Given the description of an element on the screen output the (x, y) to click on. 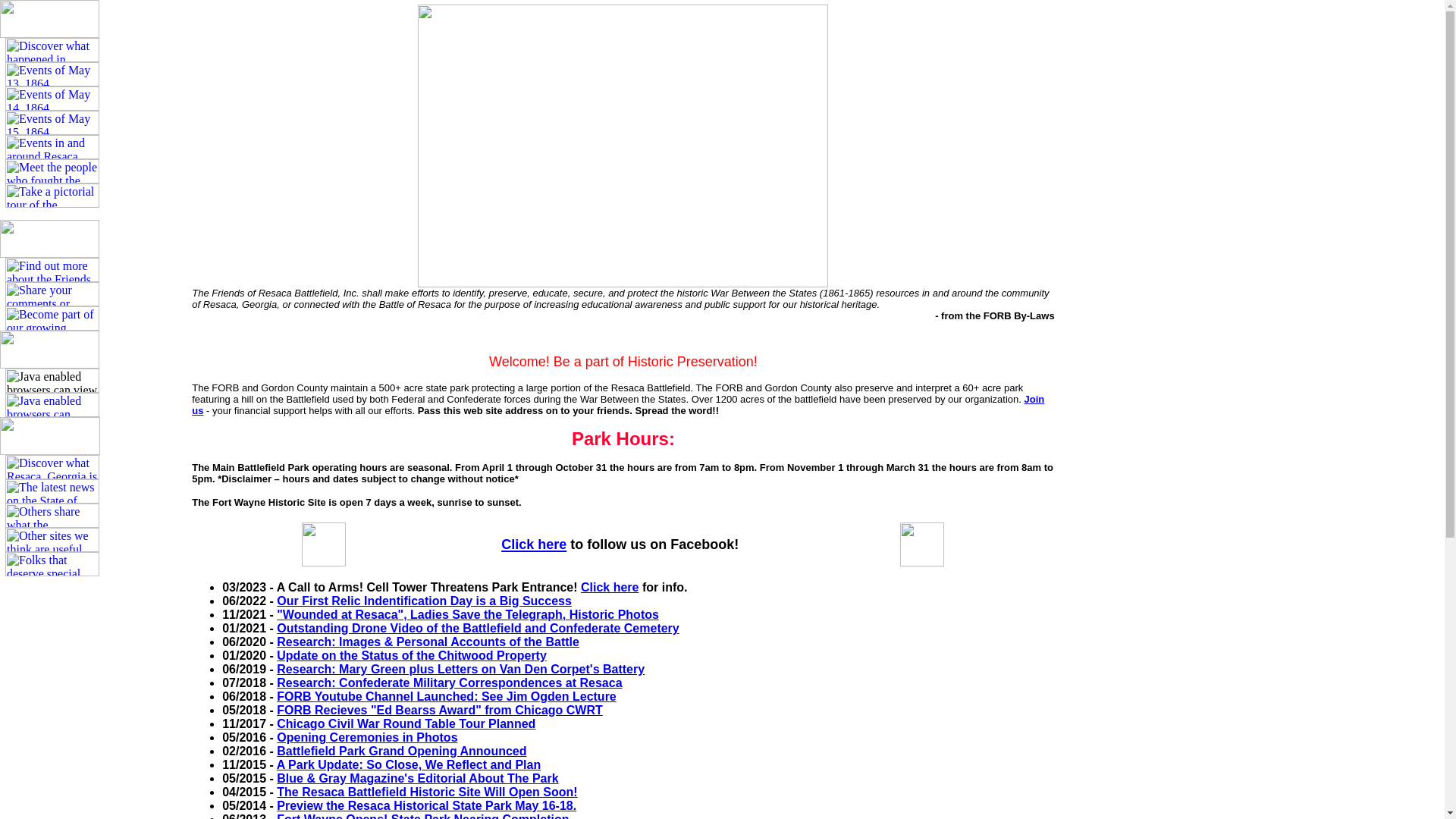
Research: Confederate Military Correspondences at Resaca (448, 682)
Join us (617, 404)
Click here (533, 542)
Our First Relic Indentification Day is a Big Success (424, 600)
Fort Wayne Opens! State Park Nearing Completion. (424, 816)
Opening Ceremonies in Photos (366, 737)
The Resaca Battlefield Historic Site Will Open Soon! (426, 791)
Chicago Civil War Round Table Tour Planned (405, 723)
FORB Youtube Channel Launched: See Jim Ogden Lecture (445, 696)
Preview the Resaca Historical State Park May 16-18. (426, 805)
Battlefield Park Grand Opening Announced (400, 750)
A Park Update: So Close, We Reflect and Plan (408, 764)
